Given the description of an element on the screen output the (x, y) to click on. 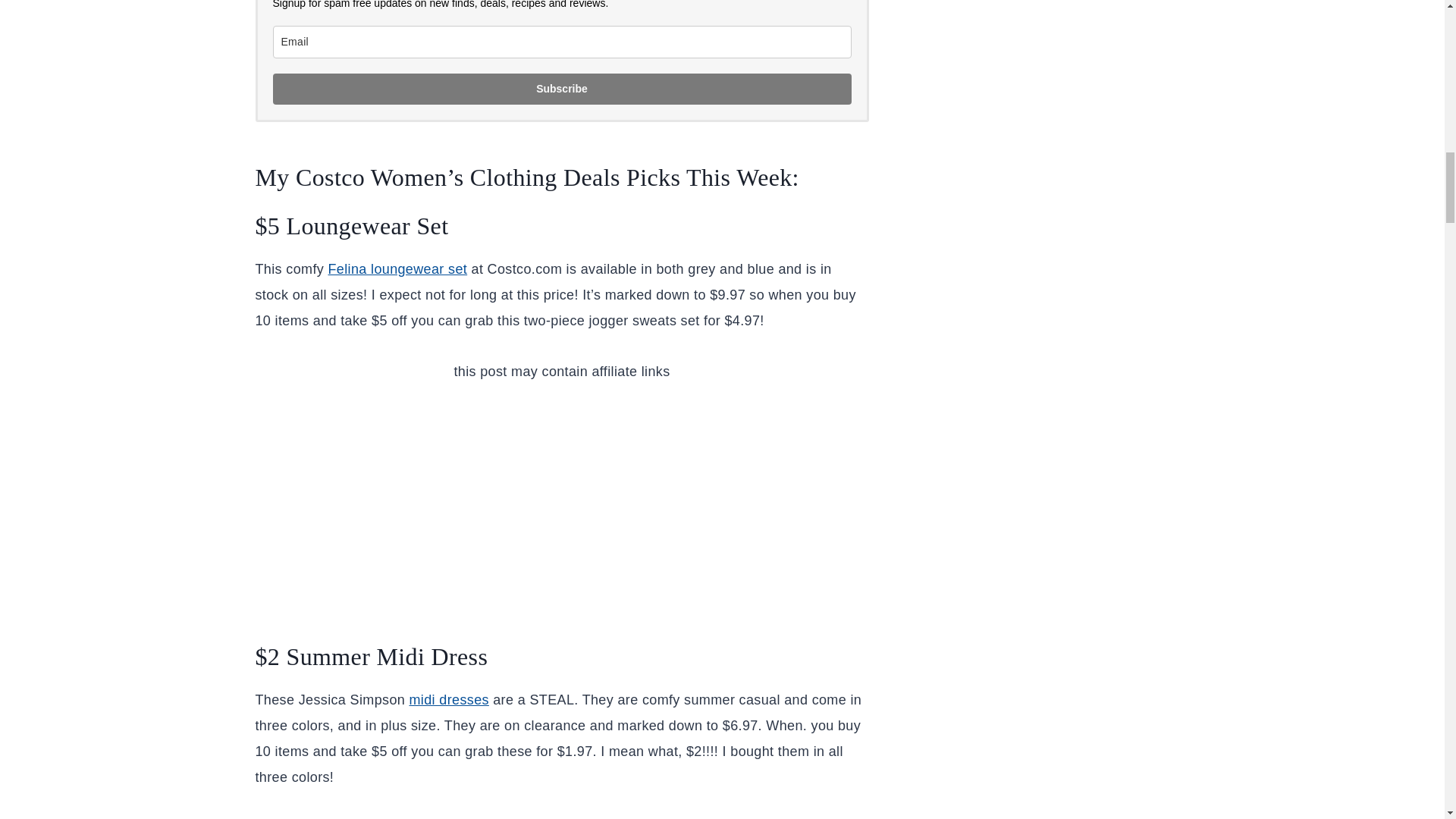
Subscribe (562, 88)
